Given the description of an element on the screen output the (x, y) to click on. 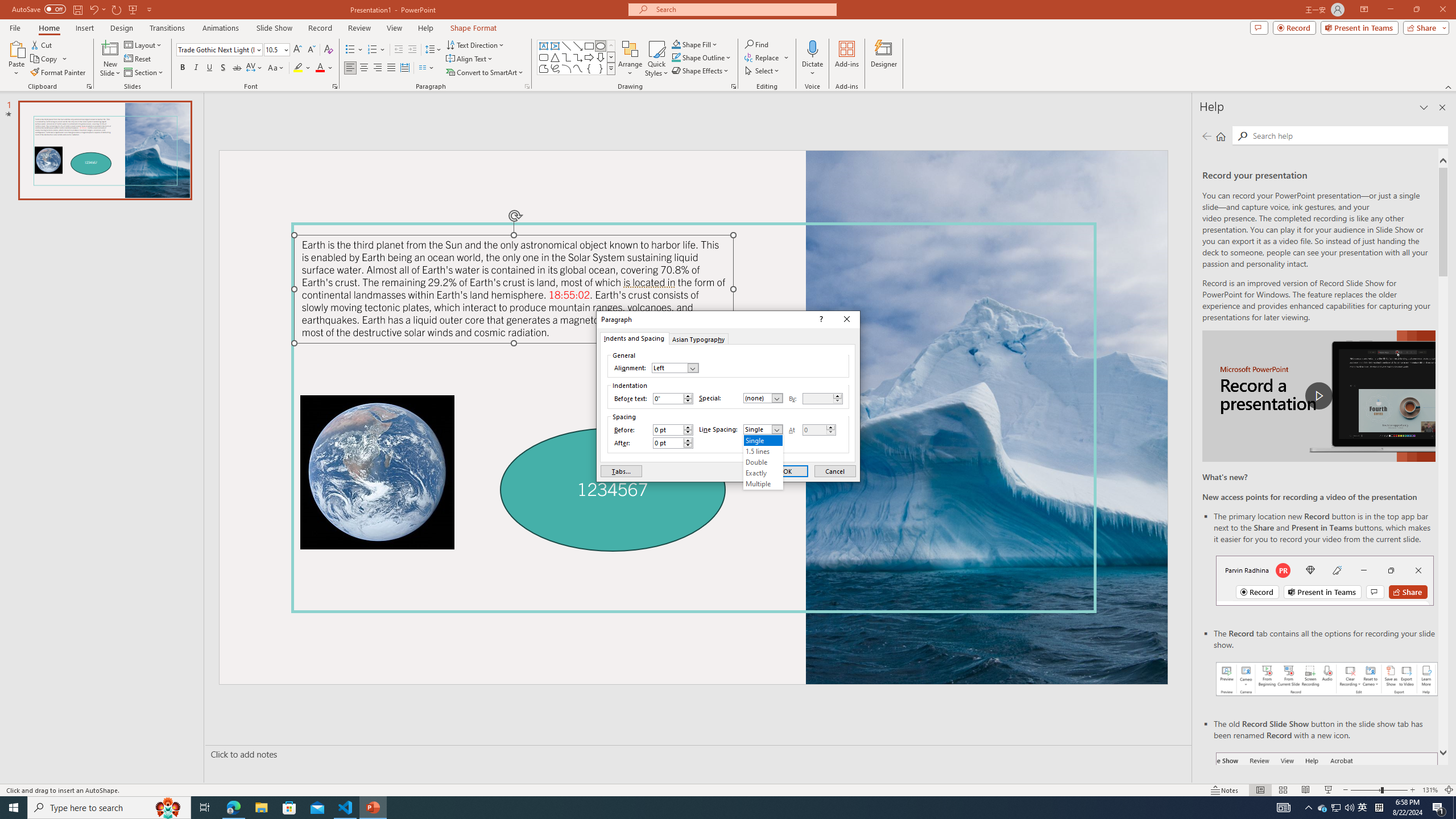
Record button in top bar (1324, 580)
Zoom 131% (1430, 790)
Before text (672, 398)
By (822, 398)
